Given the description of an element on the screen output the (x, y) to click on. 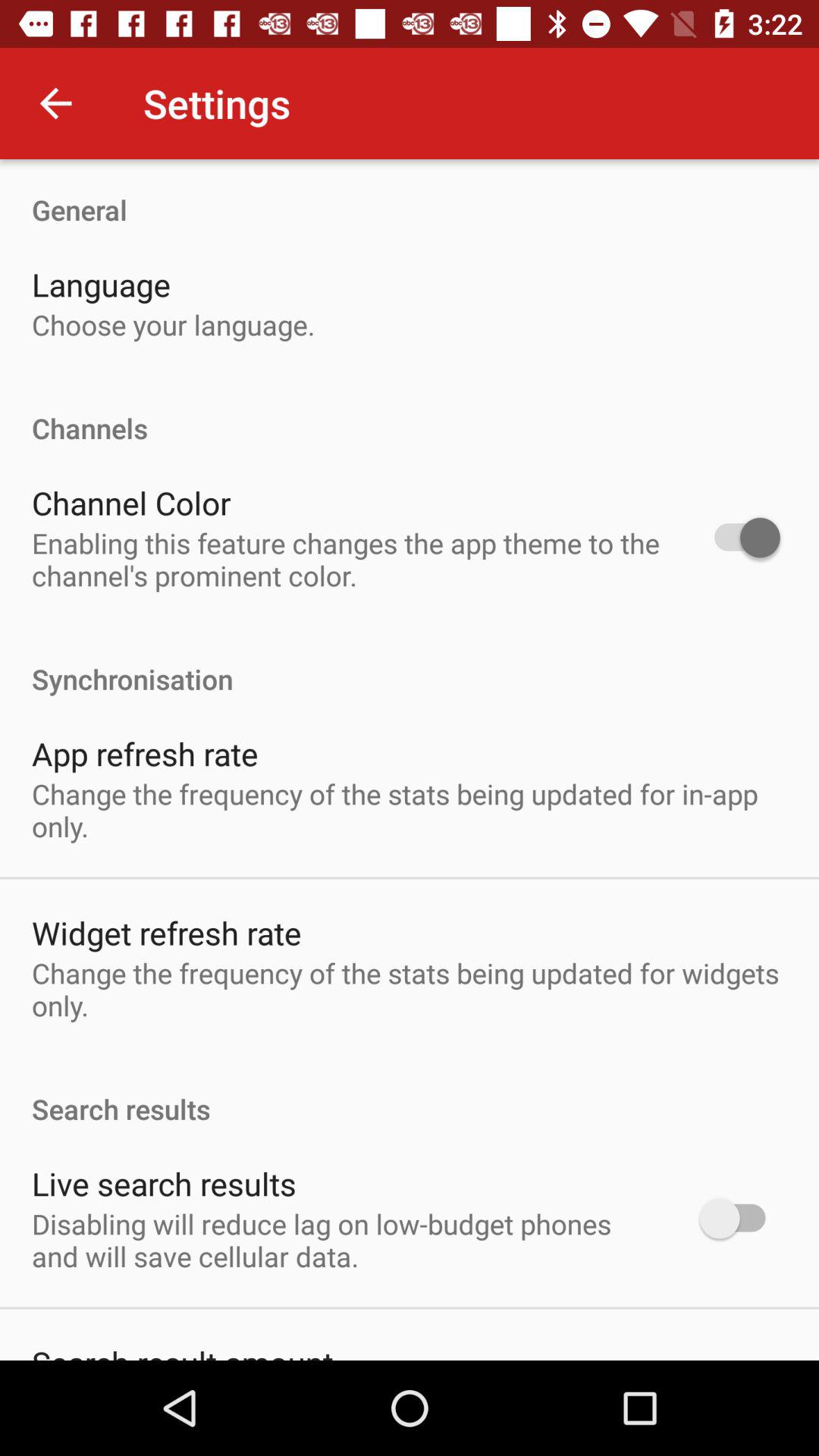
tap icon above the channels (173, 324)
